Given the description of an element on the screen output the (x, y) to click on. 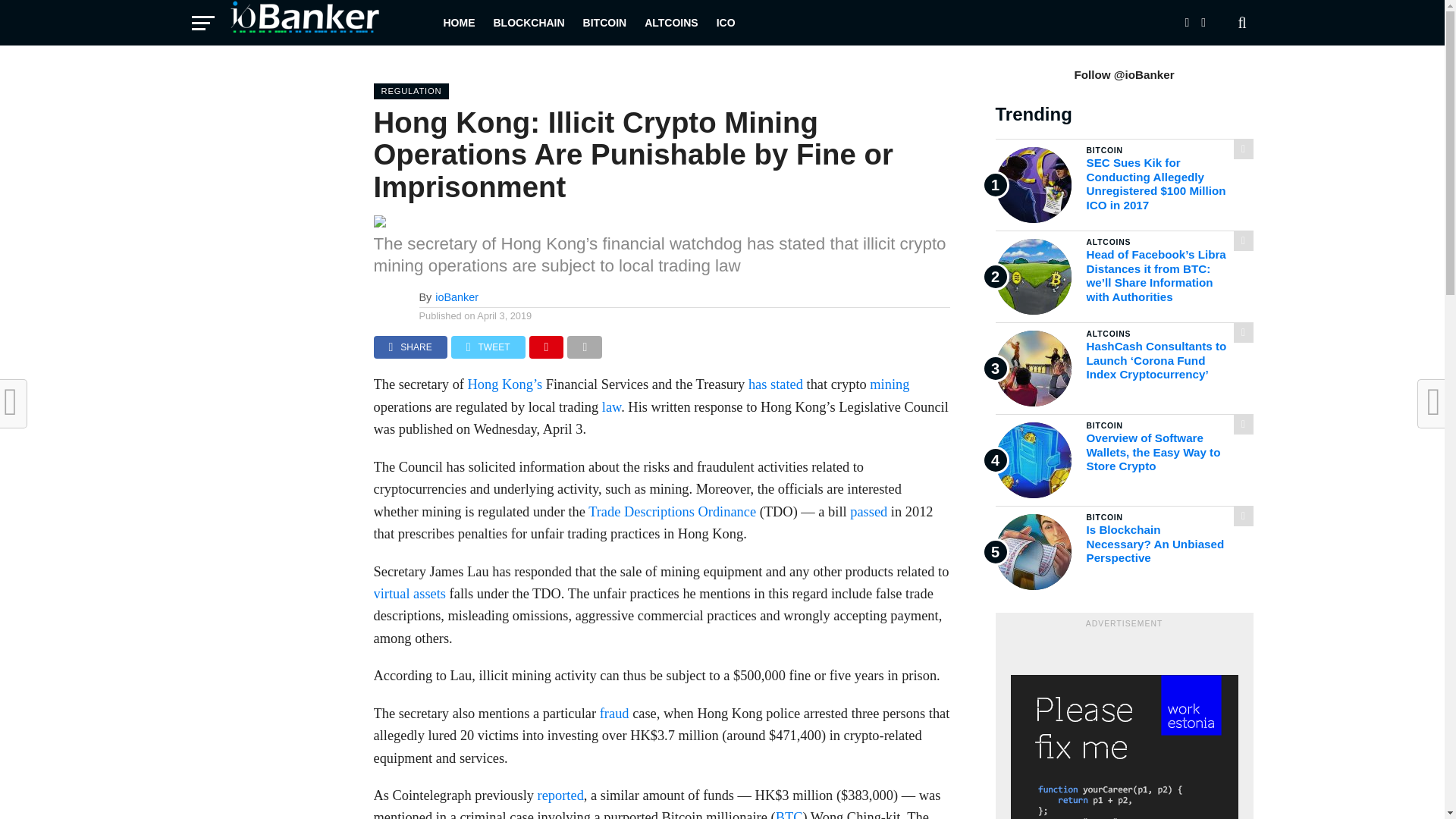
BTC (789, 814)
ioBanker (457, 297)
fraud (613, 713)
BITCOIN (604, 22)
has stated (775, 384)
HOME (458, 22)
Trade Descriptions Ordinance (671, 511)
Posts by ioBanker (457, 297)
BLOCKCHAIN (528, 22)
reported (560, 795)
